Given the description of an element on the screen output the (x, y) to click on. 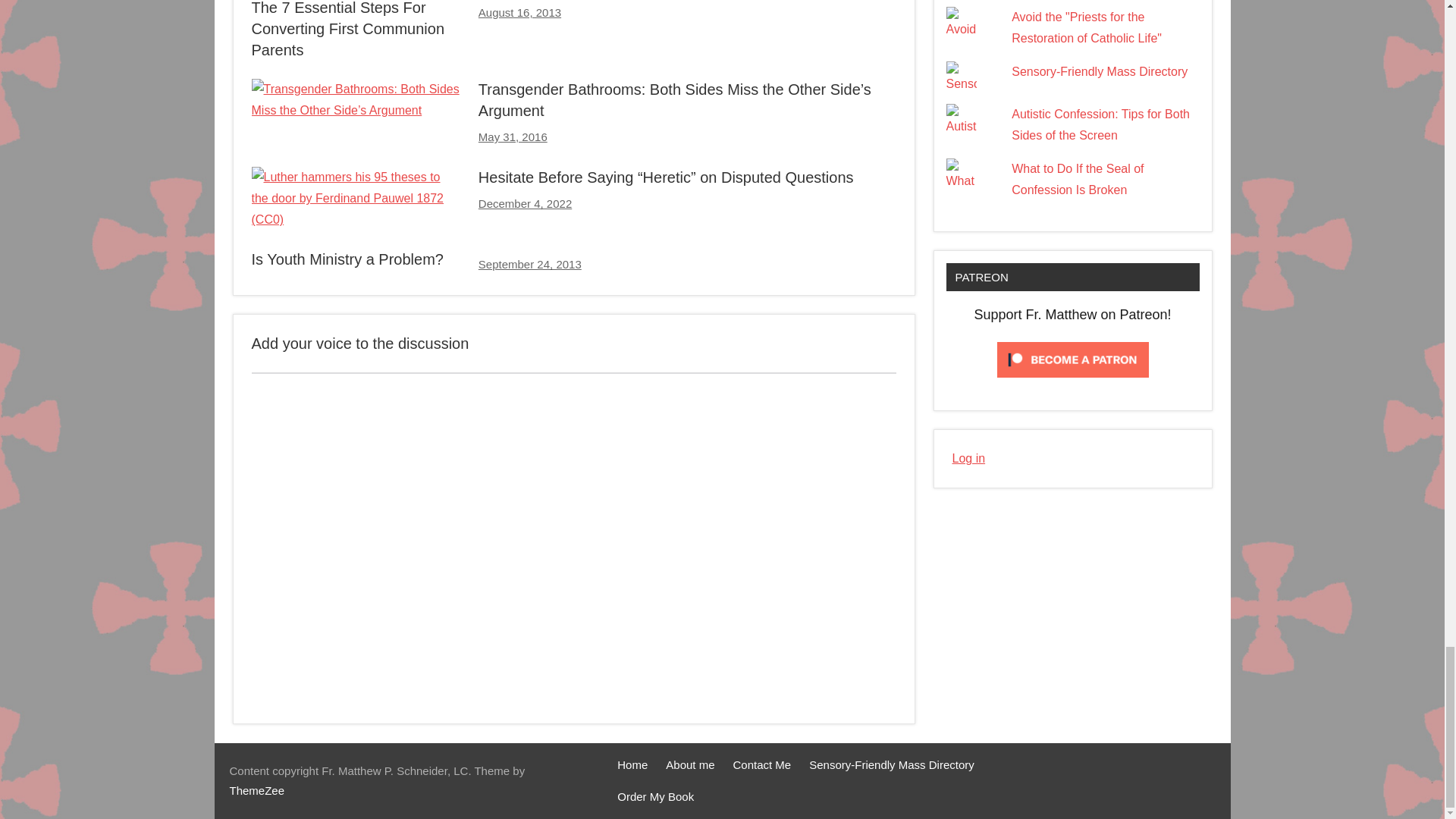
2:34 pm (519, 11)
7:32 pm (525, 203)
6:45 am (513, 136)
10:14 am (529, 264)
